Given the description of an element on the screen output the (x, y) to click on. 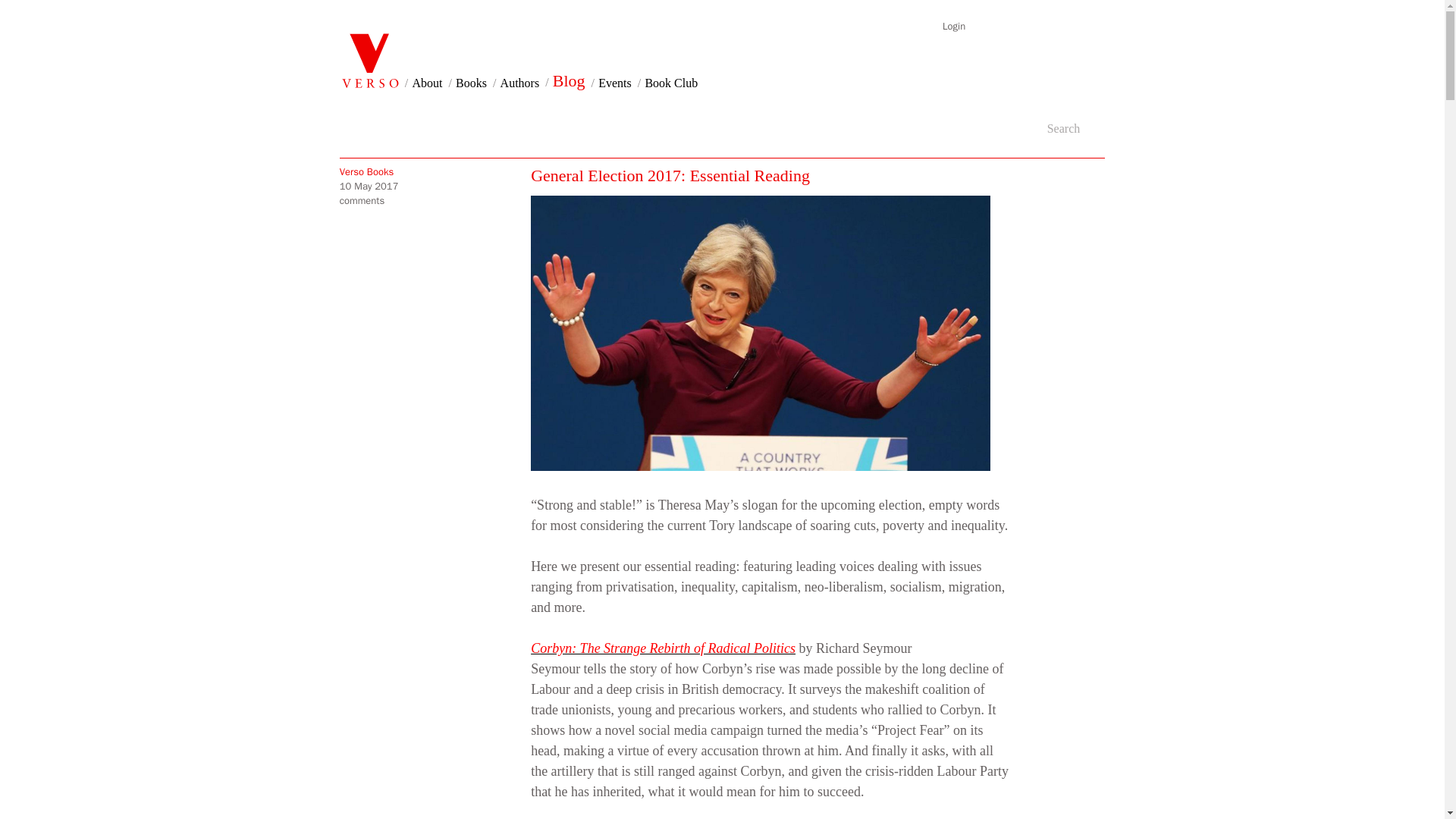
Books (470, 82)
Login (953, 25)
Authors (520, 82)
Book Club (671, 82)
Verso Books (435, 171)
Blog (569, 80)
Events (614, 82)
Corbyn: The Strange Rebirth of Radical Politics (662, 648)
About (427, 82)
